Given the description of an element on the screen output the (x, y) to click on. 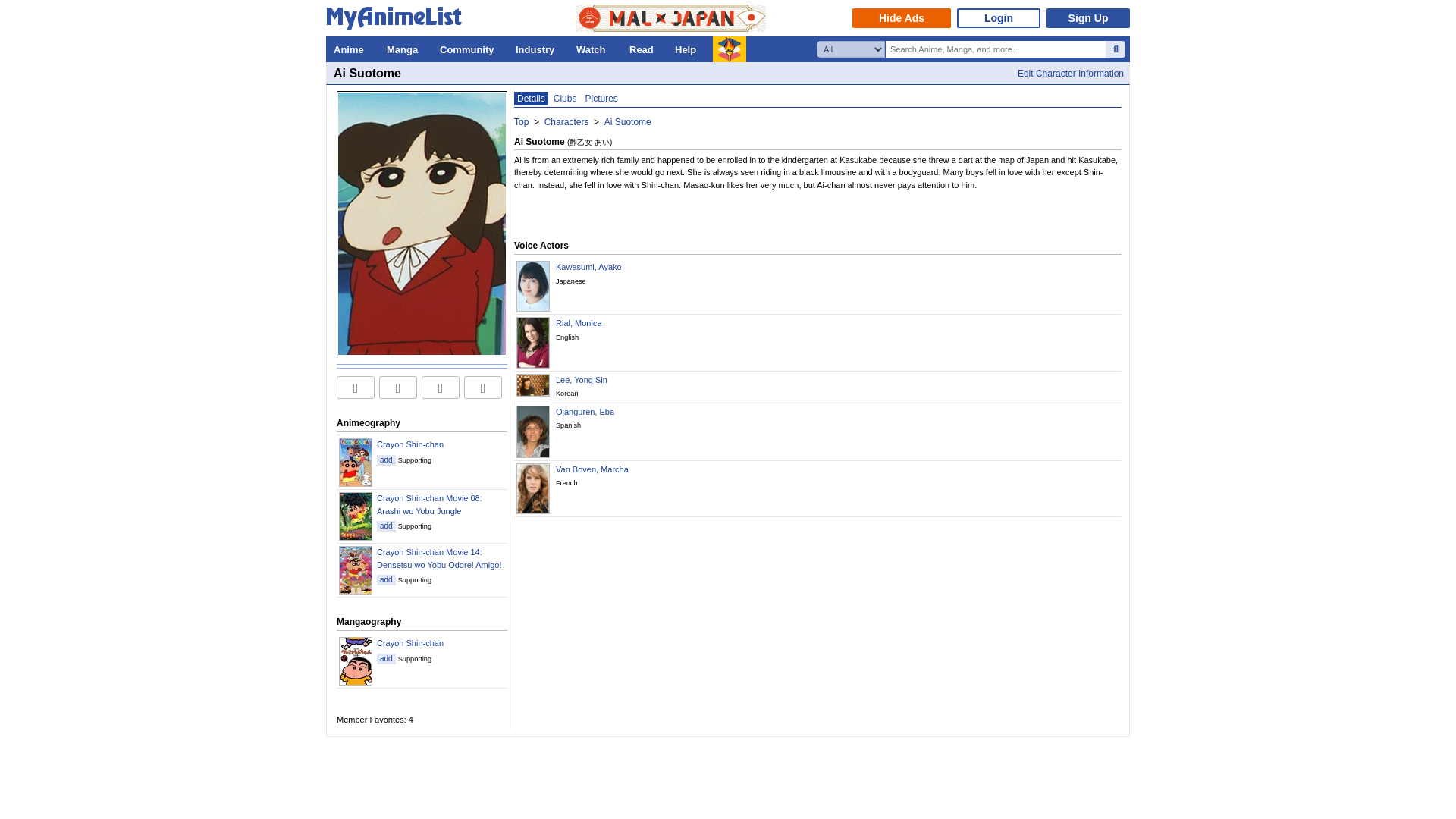
Hide Ads (900, 17)
Anime (352, 49)
Read (643, 49)
MyAnimeList.net (398, 21)
Sign Up (1087, 17)
Watch (595, 49)
MAL x JAPAN (670, 17)
Login (998, 17)
Industry (538, 49)
Community (470, 49)
Manga (405, 49)
